Given the description of an element on the screen output the (x, y) to click on. 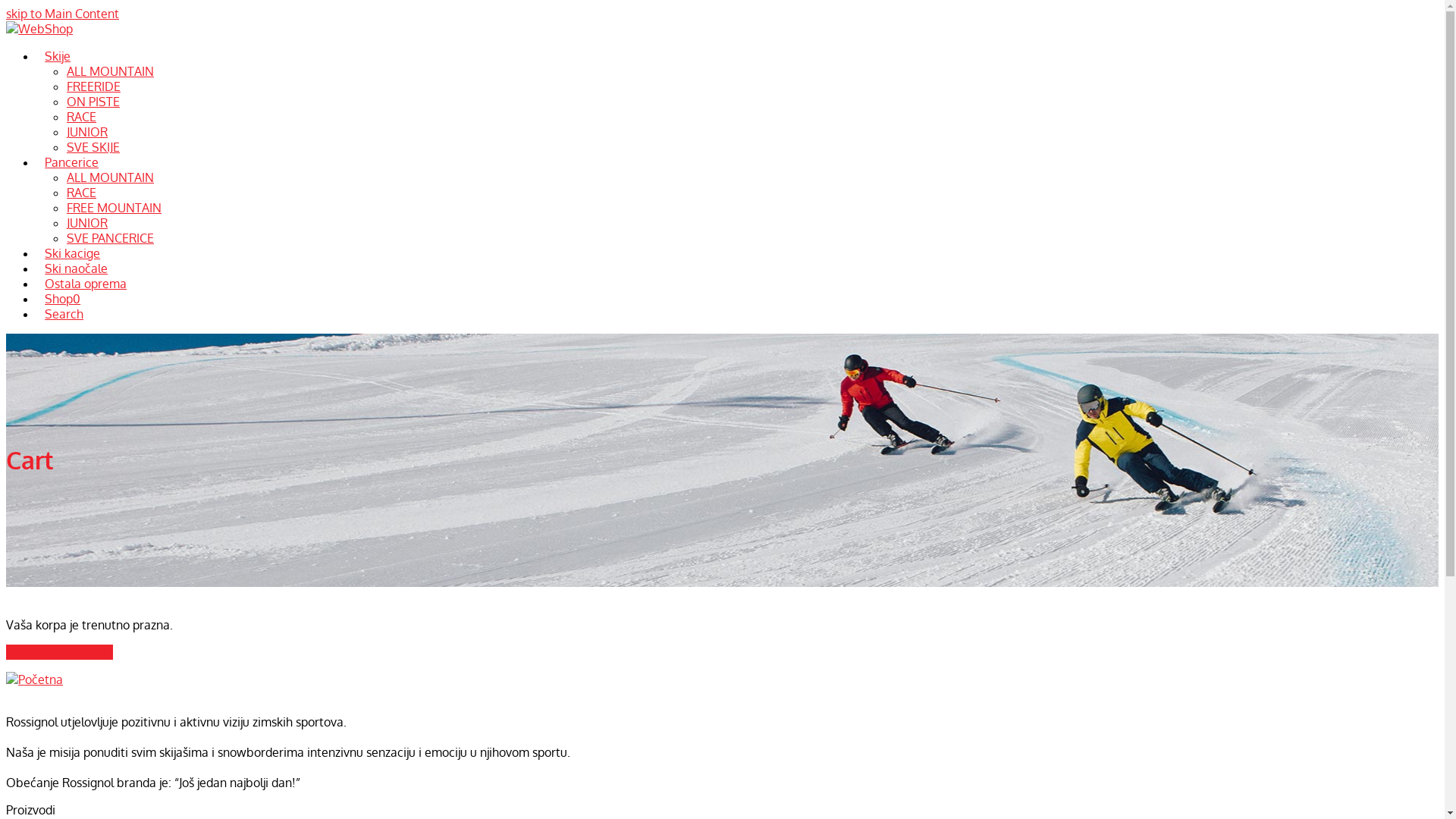
ALL MOUNTAIN Element type: text (109, 177)
Povratak u trgovinu Element type: text (59, 651)
RACE Element type: text (81, 116)
SVE SKIJE Element type: text (92, 146)
JUNIOR Element type: text (86, 131)
FREE MOUNTAIN Element type: text (113, 207)
WebShop Element type: hover (39, 28)
skip to Main Content Element type: text (62, 13)
FREERIDE Element type: text (93, 86)
JUNIOR Element type: text (86, 222)
Shop0 Element type: text (62, 298)
Ostala oprema Element type: text (85, 283)
SVE PANCERICE Element type: text (109, 237)
Ski kacige Element type: text (72, 252)
Skije Element type: text (57, 55)
Pancerice Element type: text (71, 161)
Search Element type: text (63, 313)
RACE Element type: text (81, 192)
ALL MOUNTAIN Element type: text (109, 70)
ON PISTE Element type: text (92, 101)
